Given the description of an element on the screen output the (x, y) to click on. 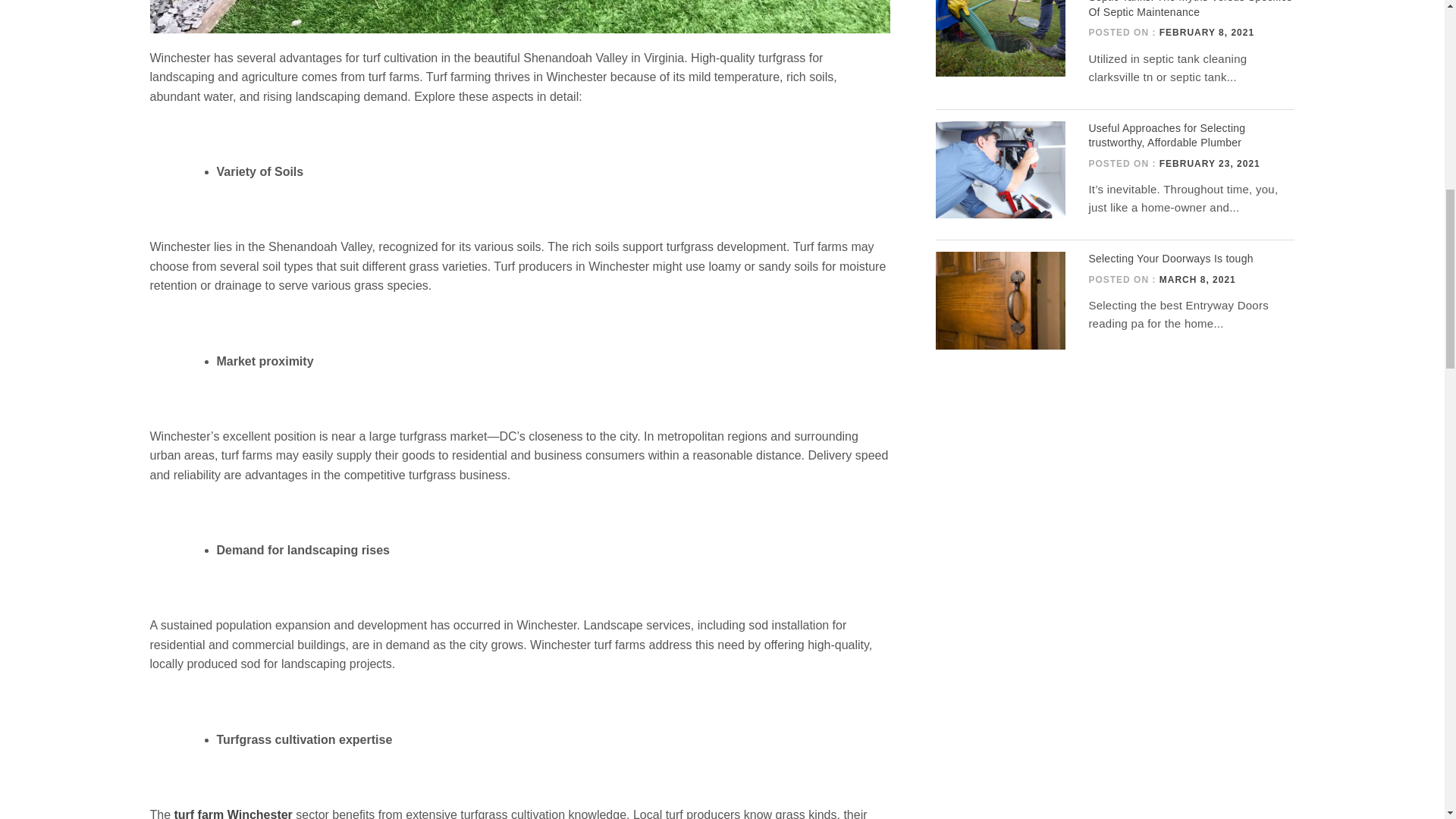
FEBRUARY 23, 2021 (1209, 163)
Selecting Your Doorways Is tough (1169, 258)
MARCH 8, 2021 (1197, 279)
FEBRUARY 8, 2021 (1205, 32)
turf farm Winchester (233, 813)
